Given the description of an element on the screen output the (x, y) to click on. 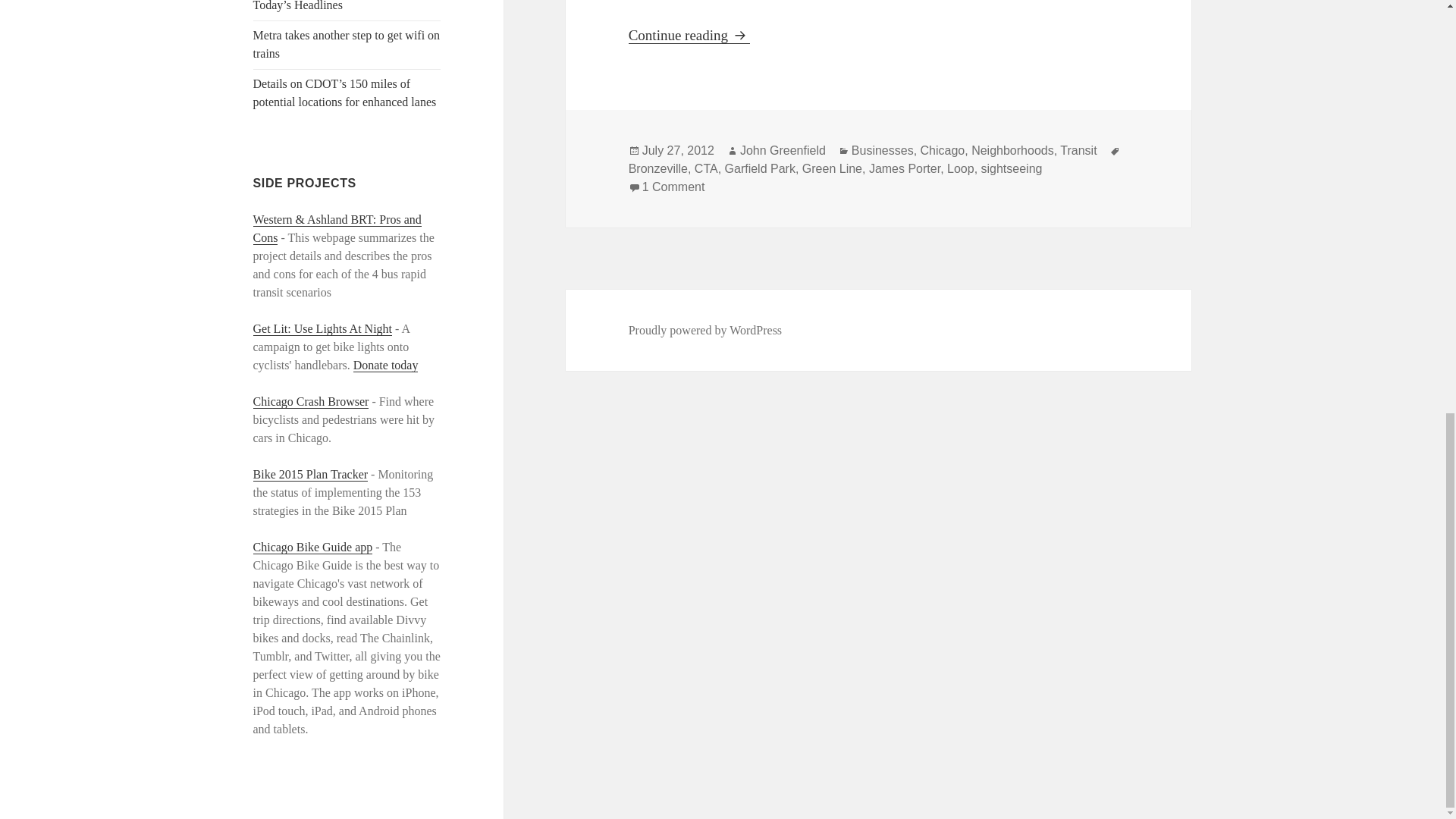
Loop (960, 168)
sightseeing (1011, 168)
Garfield Park (759, 168)
Green Line (688, 35)
Neighborhoods (831, 168)
Chicago (1012, 150)
Bronzeville (942, 150)
Get Lit: Use Lights At Night (657, 168)
CTA (323, 328)
